Given the description of an element on the screen output the (x, y) to click on. 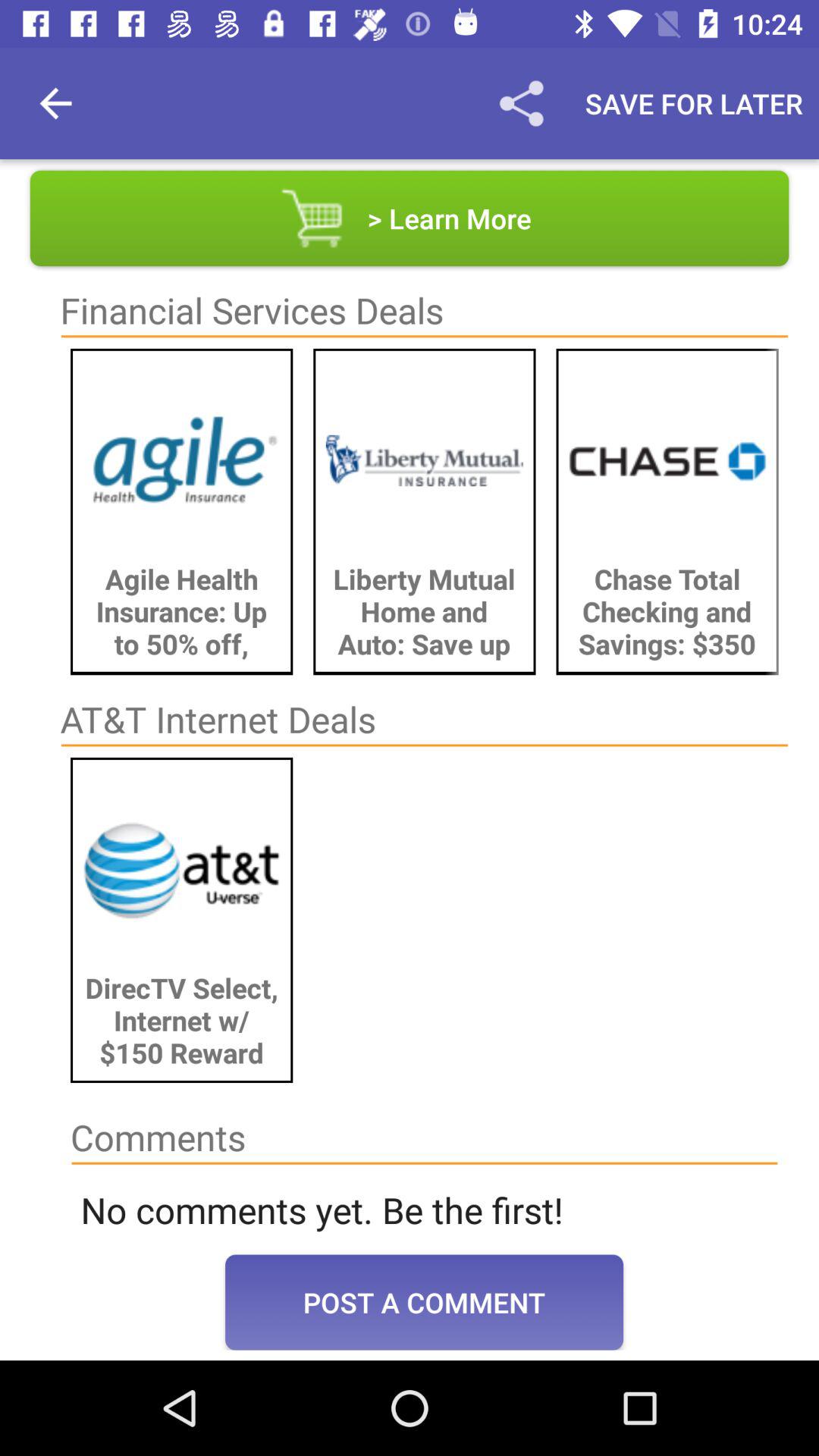
click item below the no comments yet (424, 1302)
